Given the description of an element on the screen output the (x, y) to click on. 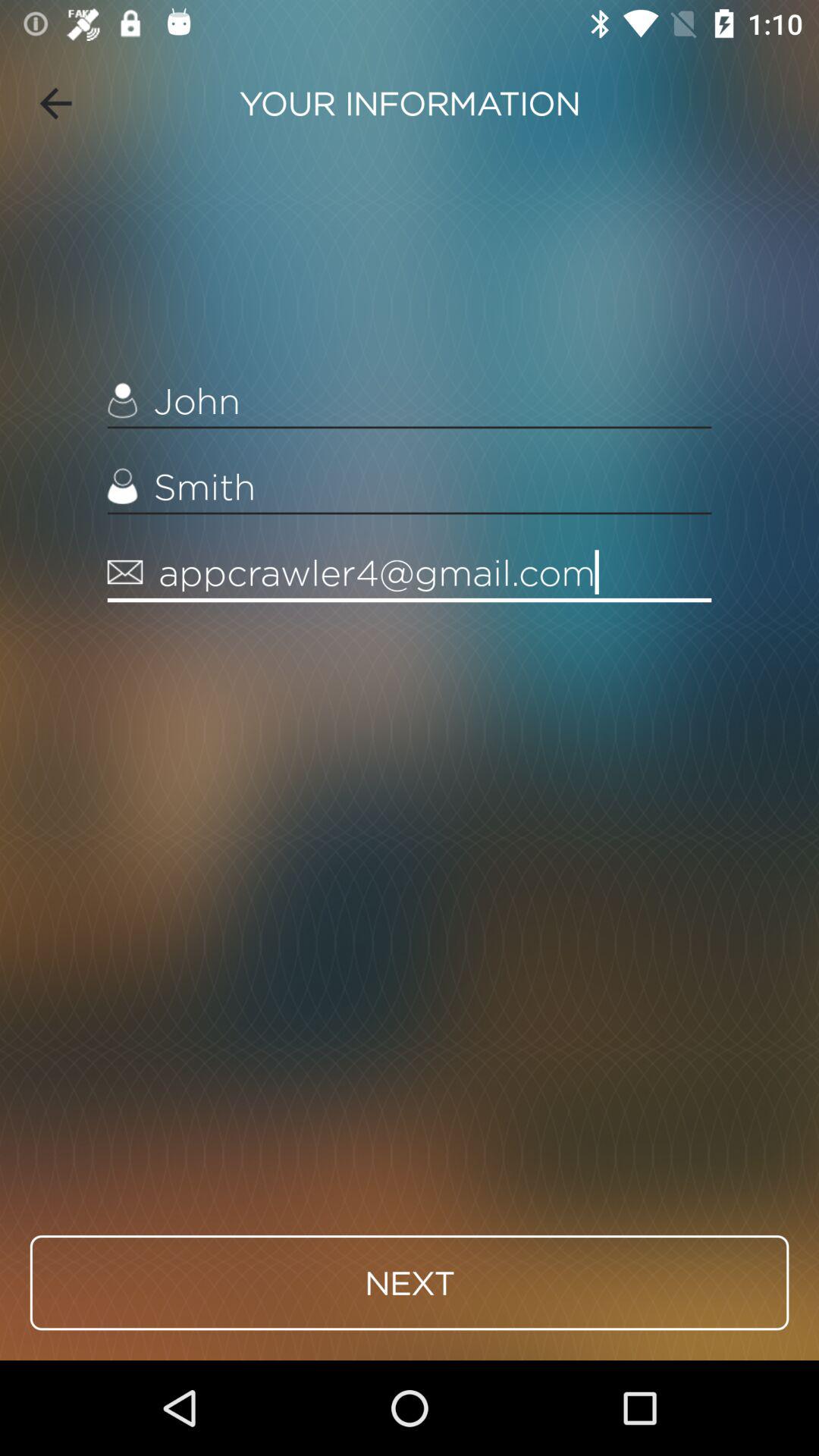
launch item above the john icon (55, 103)
